Given the description of an element on the screen output the (x, y) to click on. 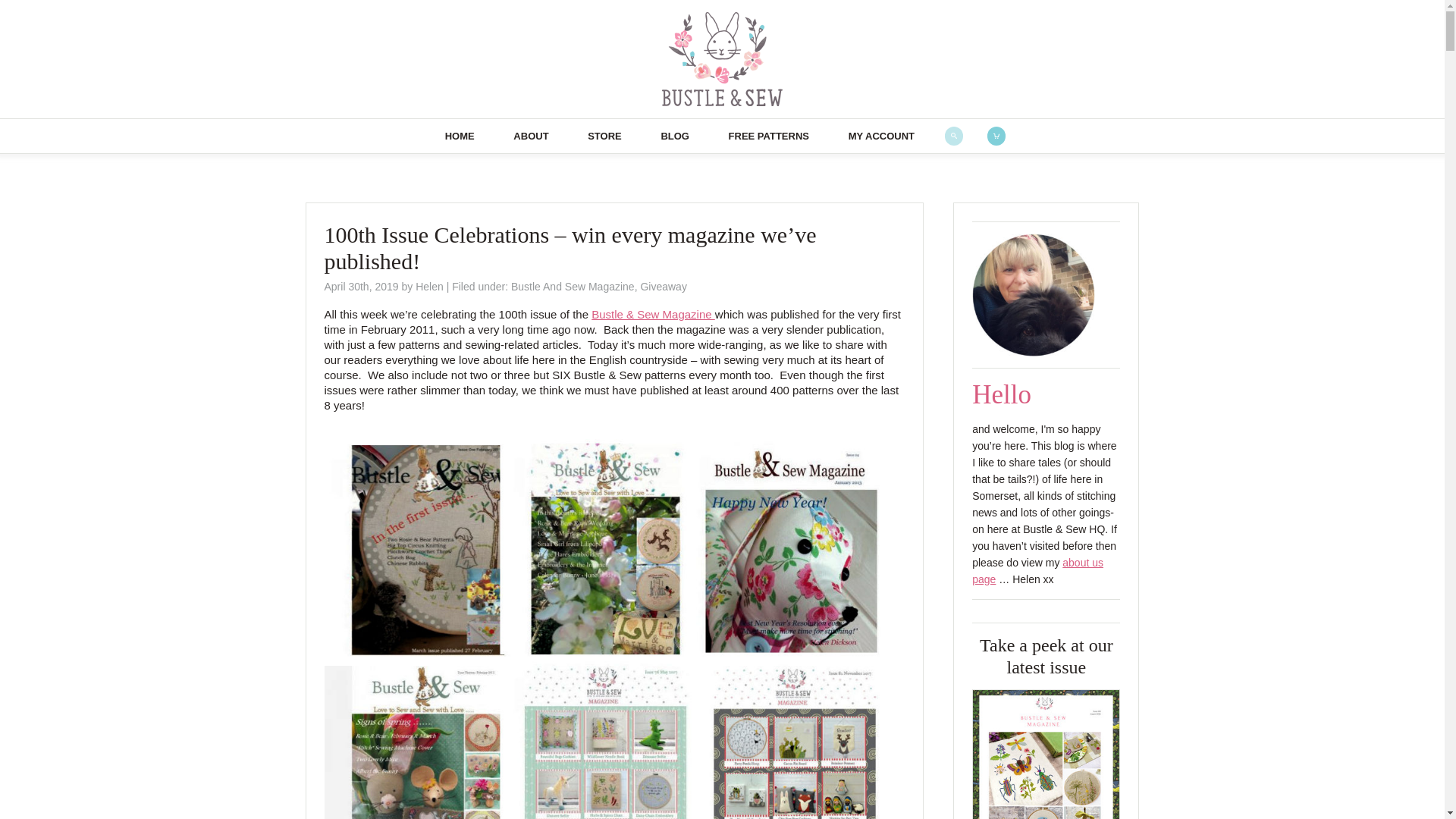
Bustle And Sew Magazine (572, 286)
STORE (604, 135)
HOME (459, 135)
BLOG (674, 135)
MY ACCOUNT (880, 135)
ABOUT (530, 135)
Giveaway (662, 286)
FREE PATTERNS (768, 135)
